Given the description of an element on the screen output the (x, y) to click on. 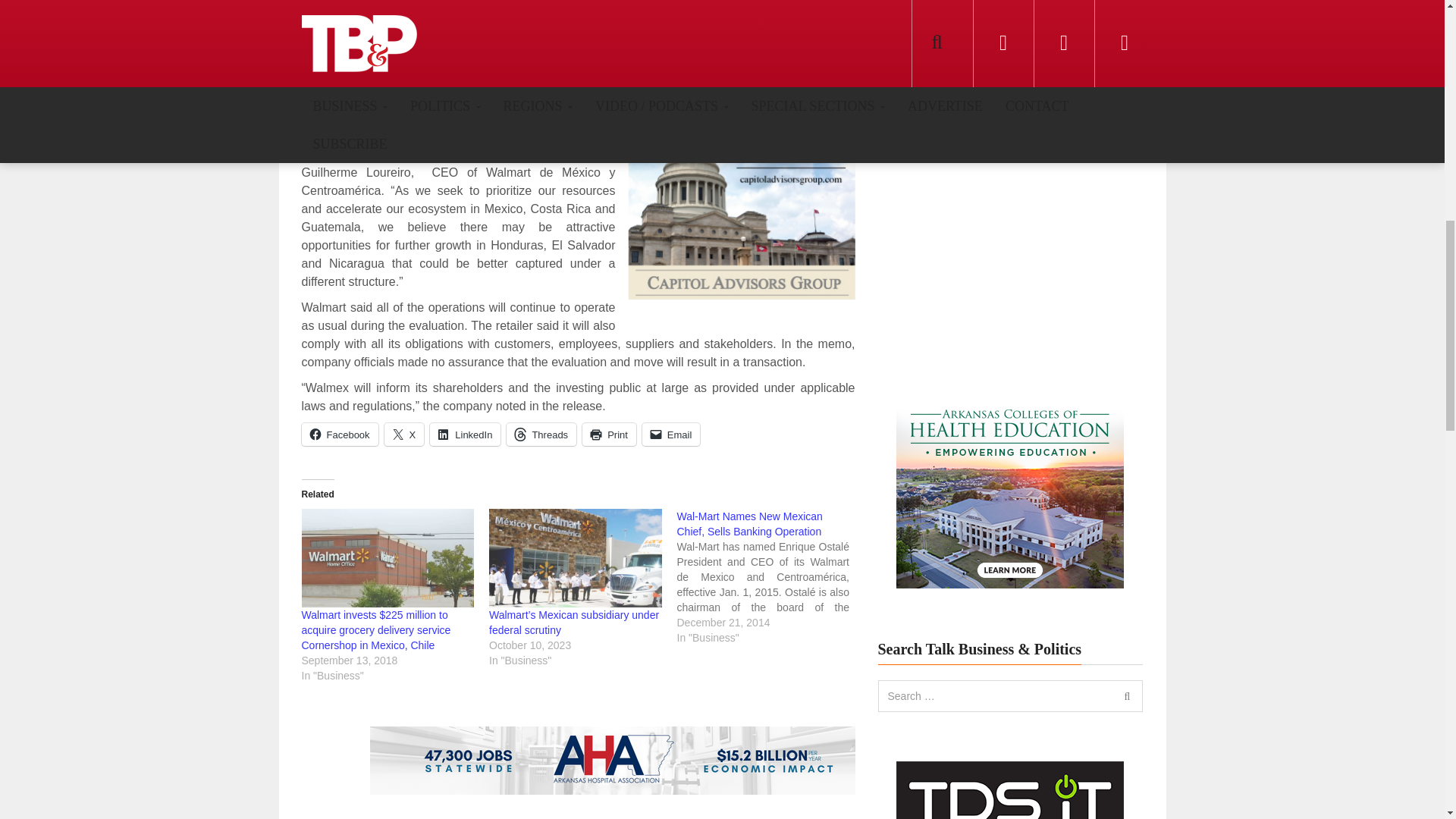
Click to share on Facebook (339, 434)
Click to share on LinkedIn (464, 434)
Click to email a link to a friend (671, 434)
Click to share on X (404, 434)
Click to share on Threads (541, 434)
Click to print (609, 434)
